Given the description of an element on the screen output the (x, y) to click on. 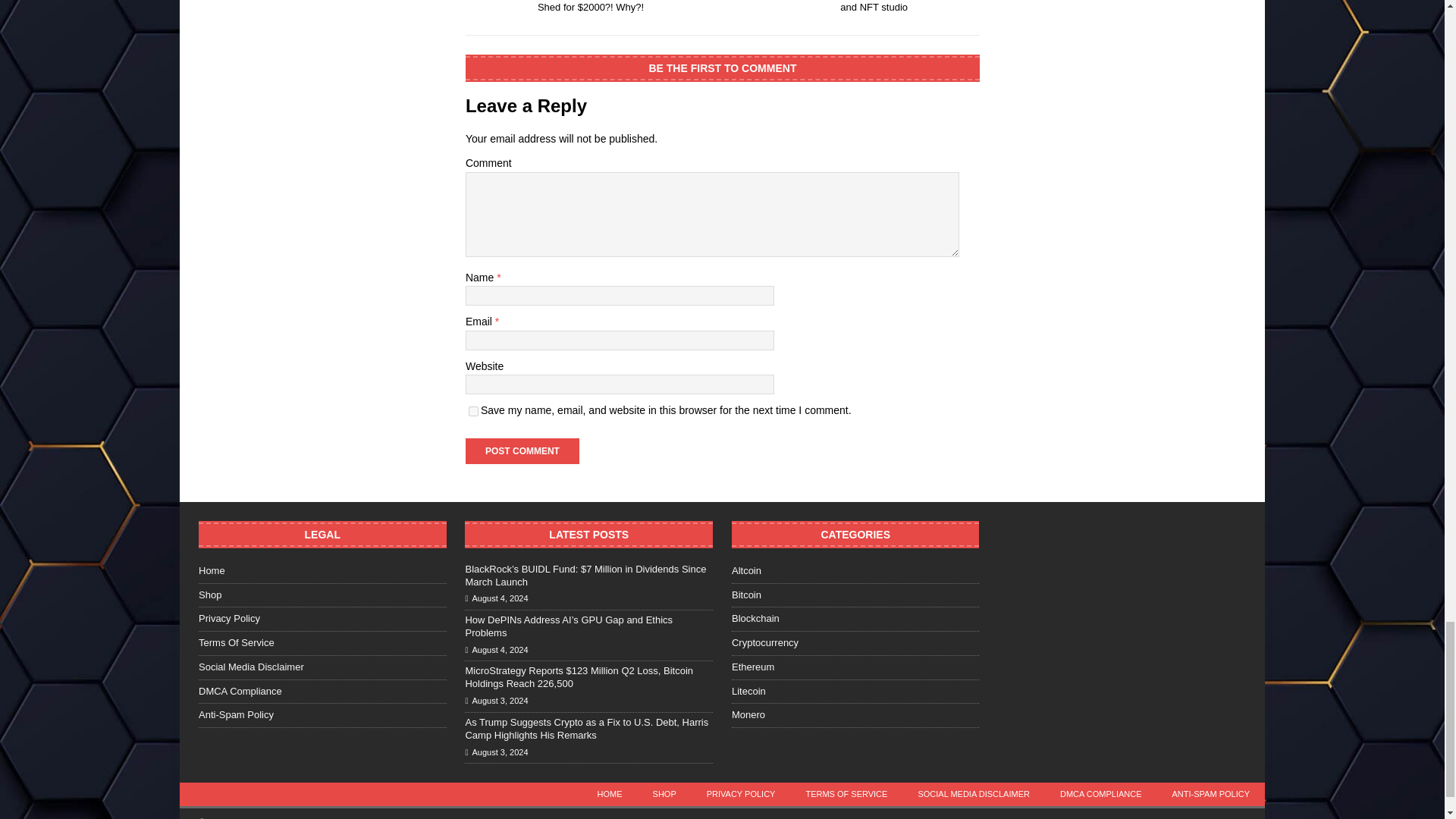
Post Comment (522, 451)
yes (473, 411)
